Given the description of an element on the screen output the (x, y) to click on. 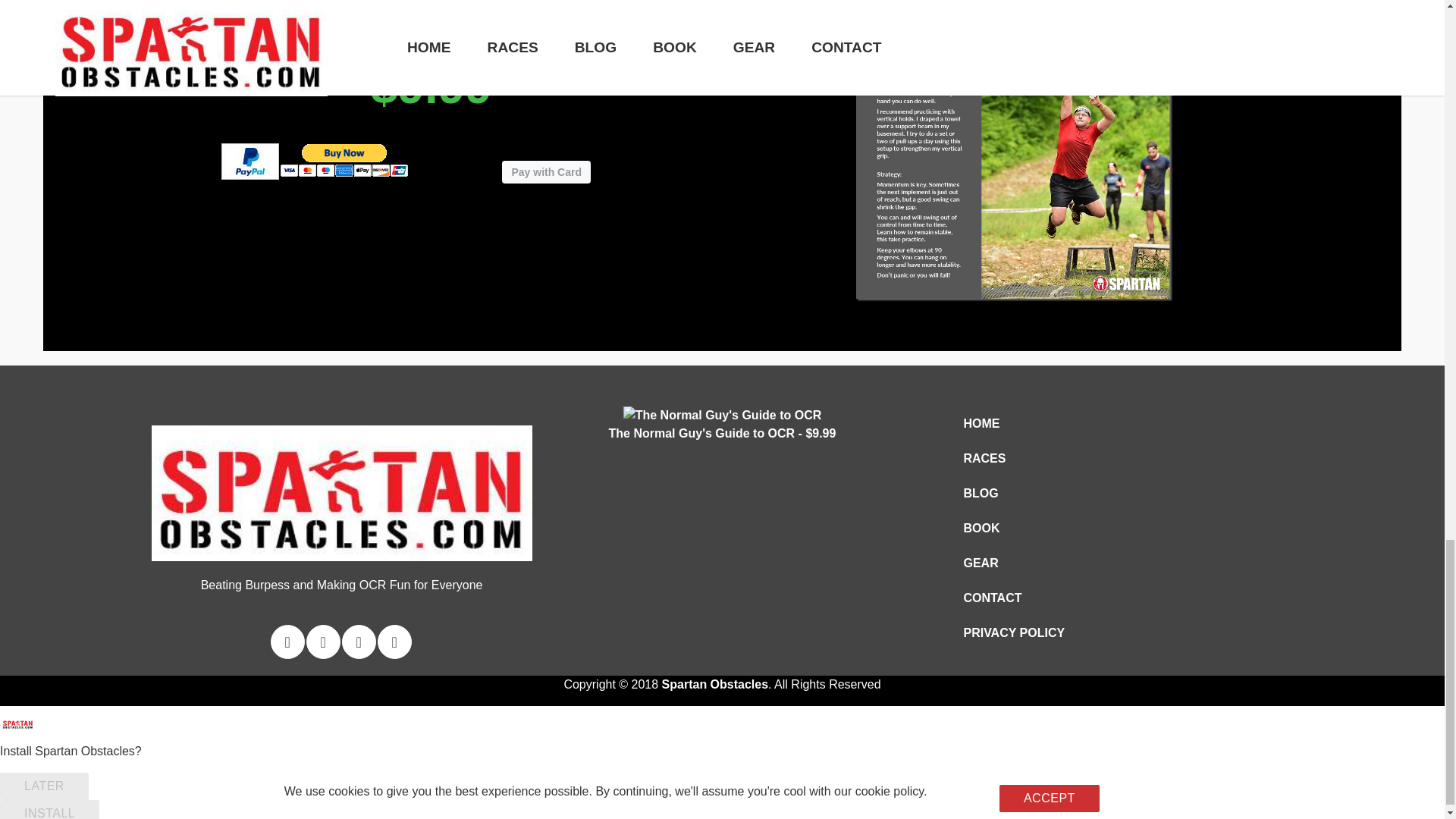
PRIVACY POLICY (1013, 633)
LATER (44, 786)
Follow Spartan Obstacles on YouTube (394, 641)
BOOK (1013, 528)
CONTACT (1013, 598)
Pay with Card (545, 171)
Follow Spartan Obstacles on Instagram (358, 641)
RACES (1013, 458)
Follow Spartan Obstacles on Facebook (322, 641)
Follow Spartan Obstacles on Twitter (287, 641)
Spartan Obstacles (715, 684)
HOME (1013, 423)
How PayPal Works (249, 171)
BLOG (1013, 493)
GEAR (1013, 562)
